Given the description of an element on the screen output the (x, y) to click on. 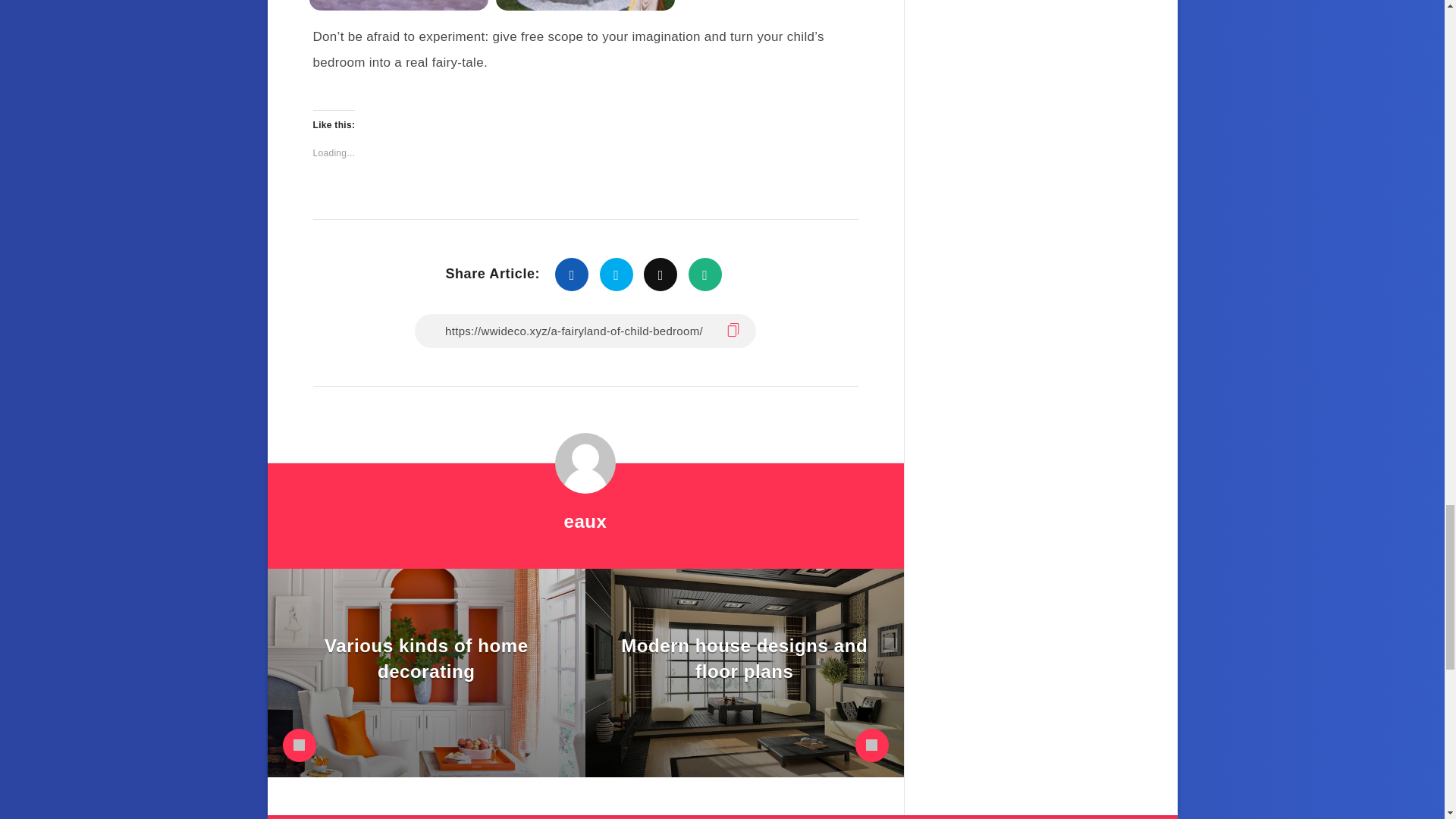
above-ground-swimming-pools-designs (585, 5)
pictures-of-cool-swimming-pools-inground-pools (397, 5)
